Given the description of an element on the screen output the (x, y) to click on. 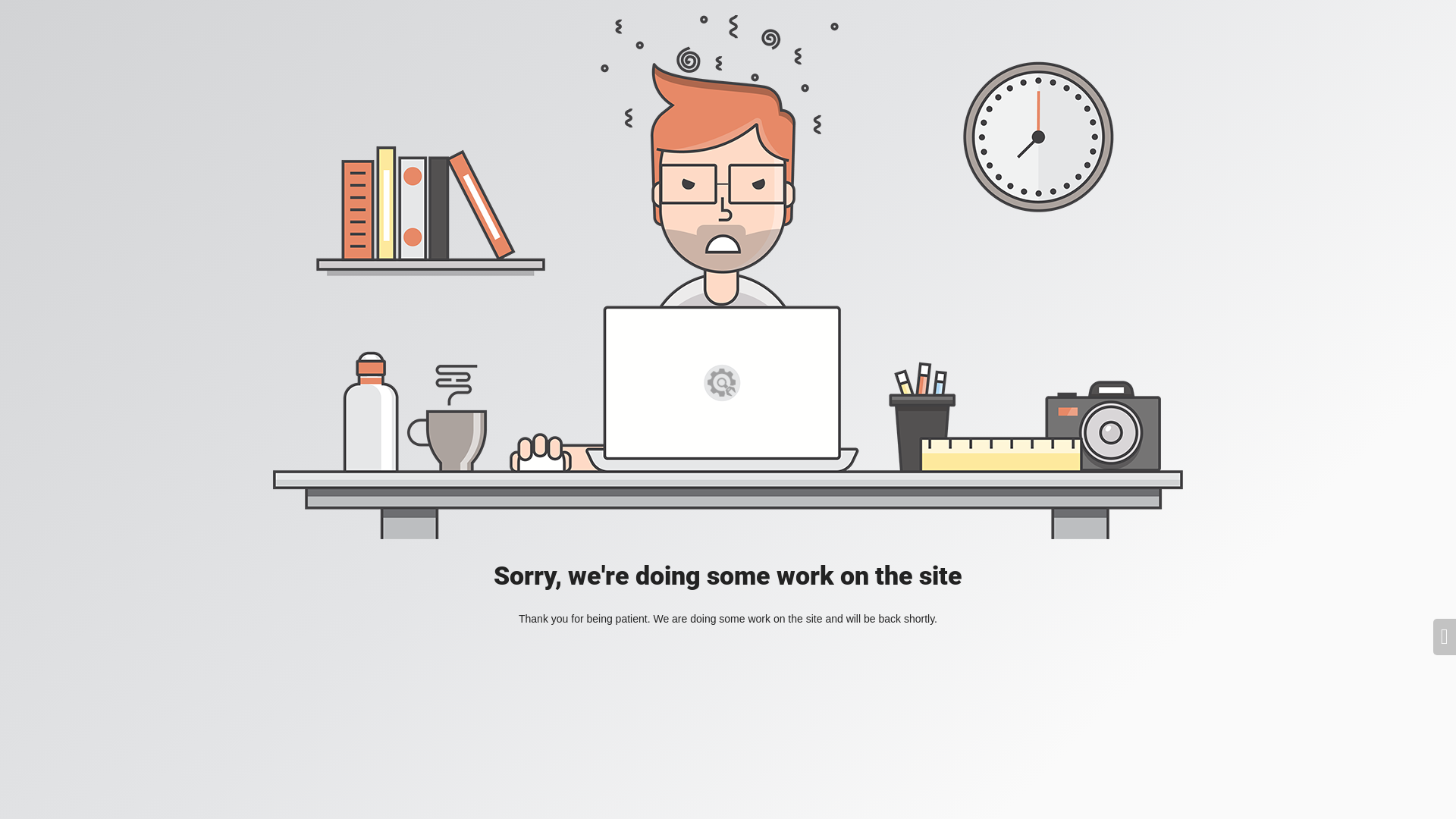
Mad Designer at work Element type: hover (728, 277)
